Given the description of an element on the screen output the (x, y) to click on. 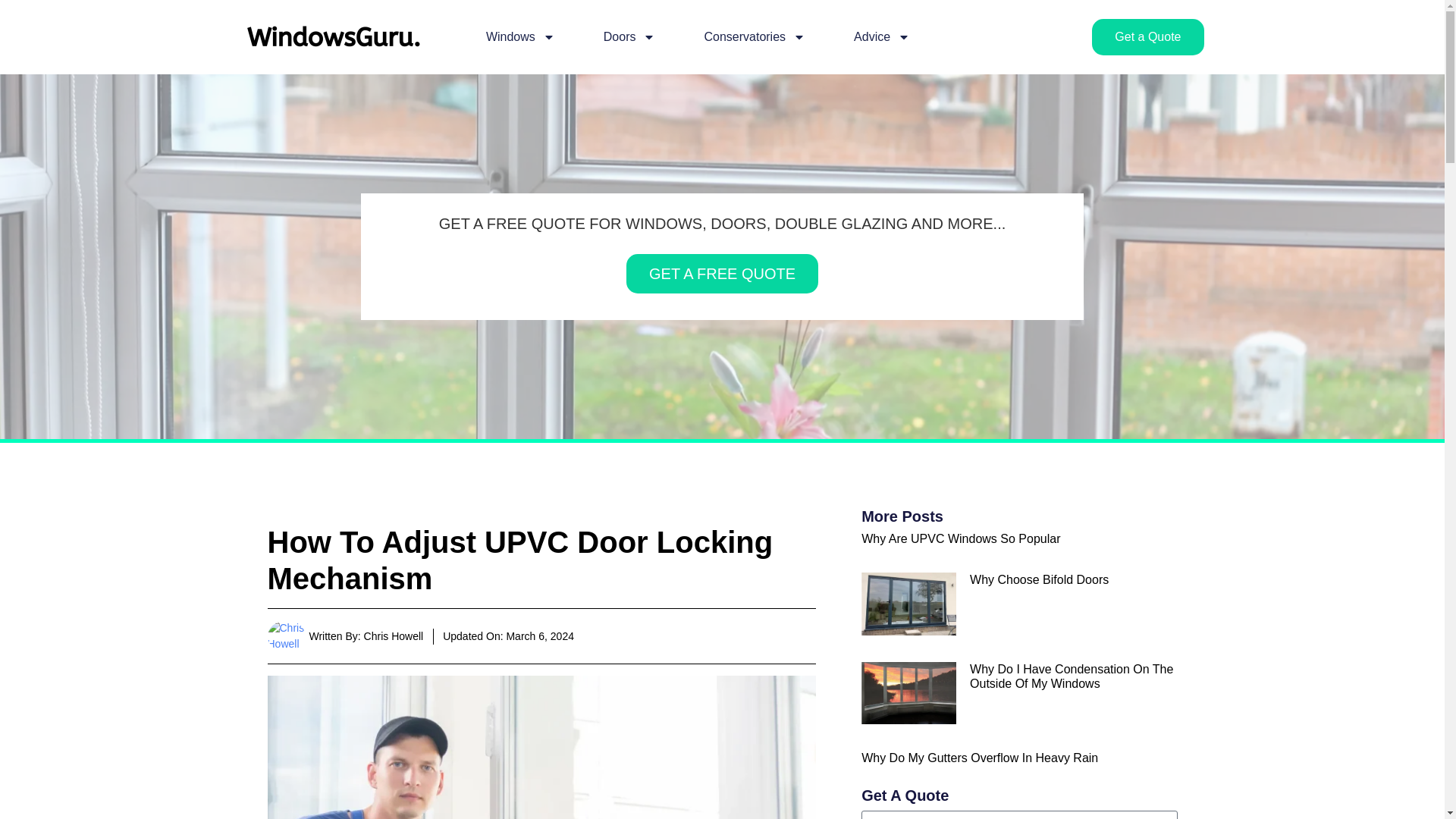
Windows (520, 36)
Conservatories (754, 36)
Advice (881, 36)
Doors (630, 36)
